Given the description of an element on the screen output the (x, y) to click on. 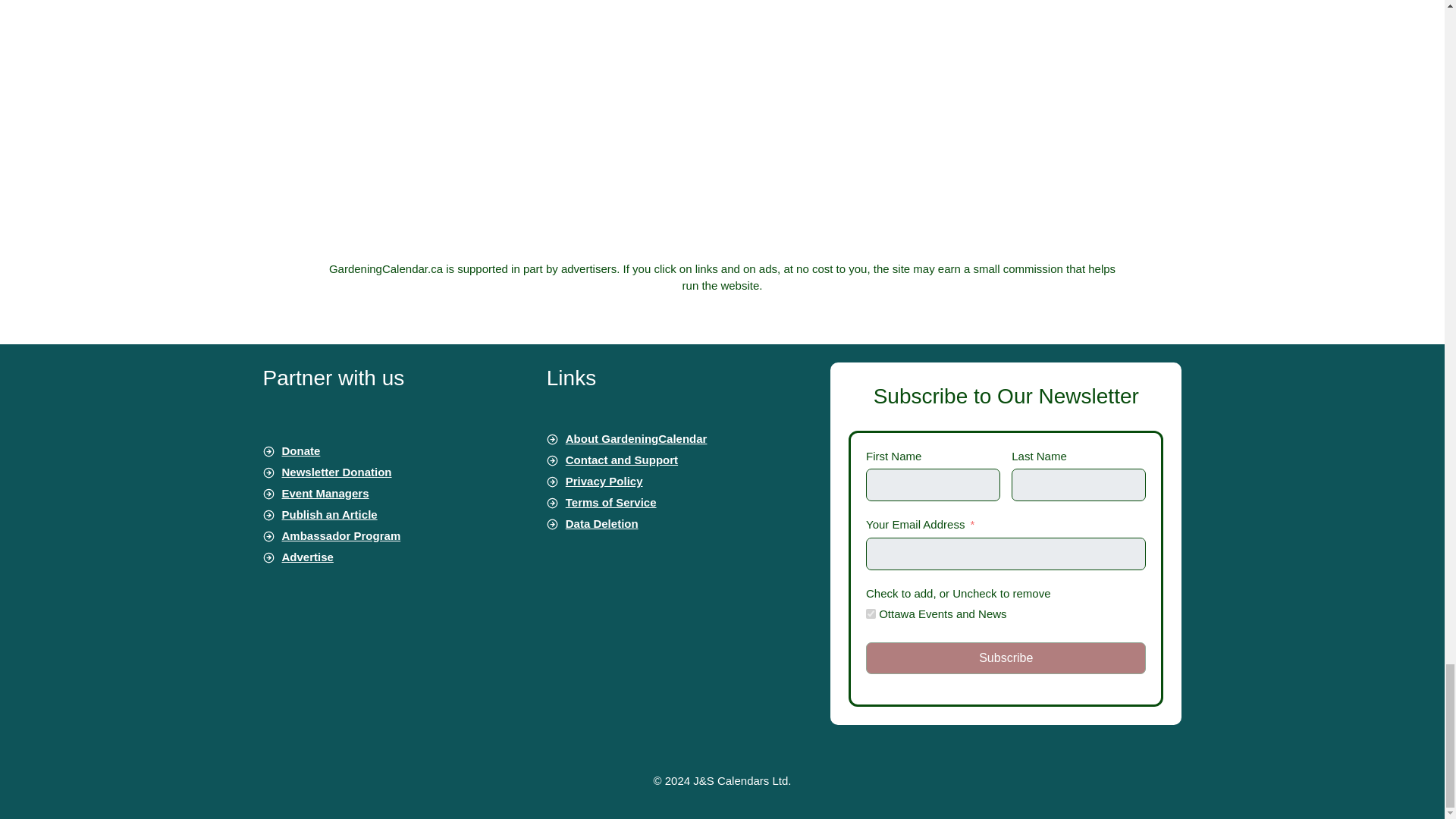
Ottawa Events and News (871, 614)
